Given the description of an element on the screen output the (x, y) to click on. 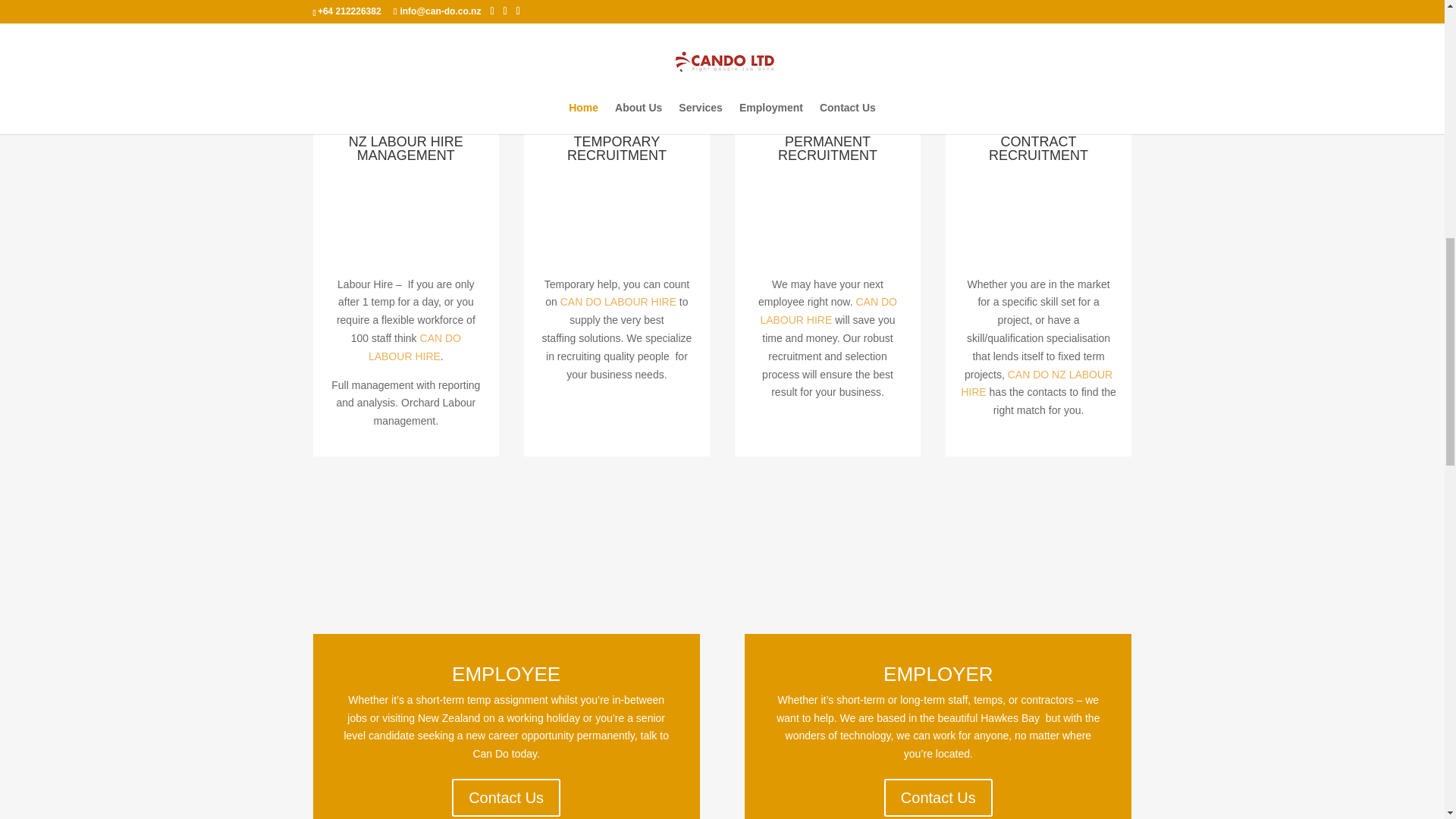
Contact Us (937, 797)
CAN DO LABOUR HIRE (828, 310)
CAN DO LABOUR HIRE (618, 301)
CAN DO NZ LABOUR HIRE (1036, 383)
CAN DO LABOUR HIRE (414, 347)
Contact Us (505, 797)
